Given the description of an element on the screen output the (x, y) to click on. 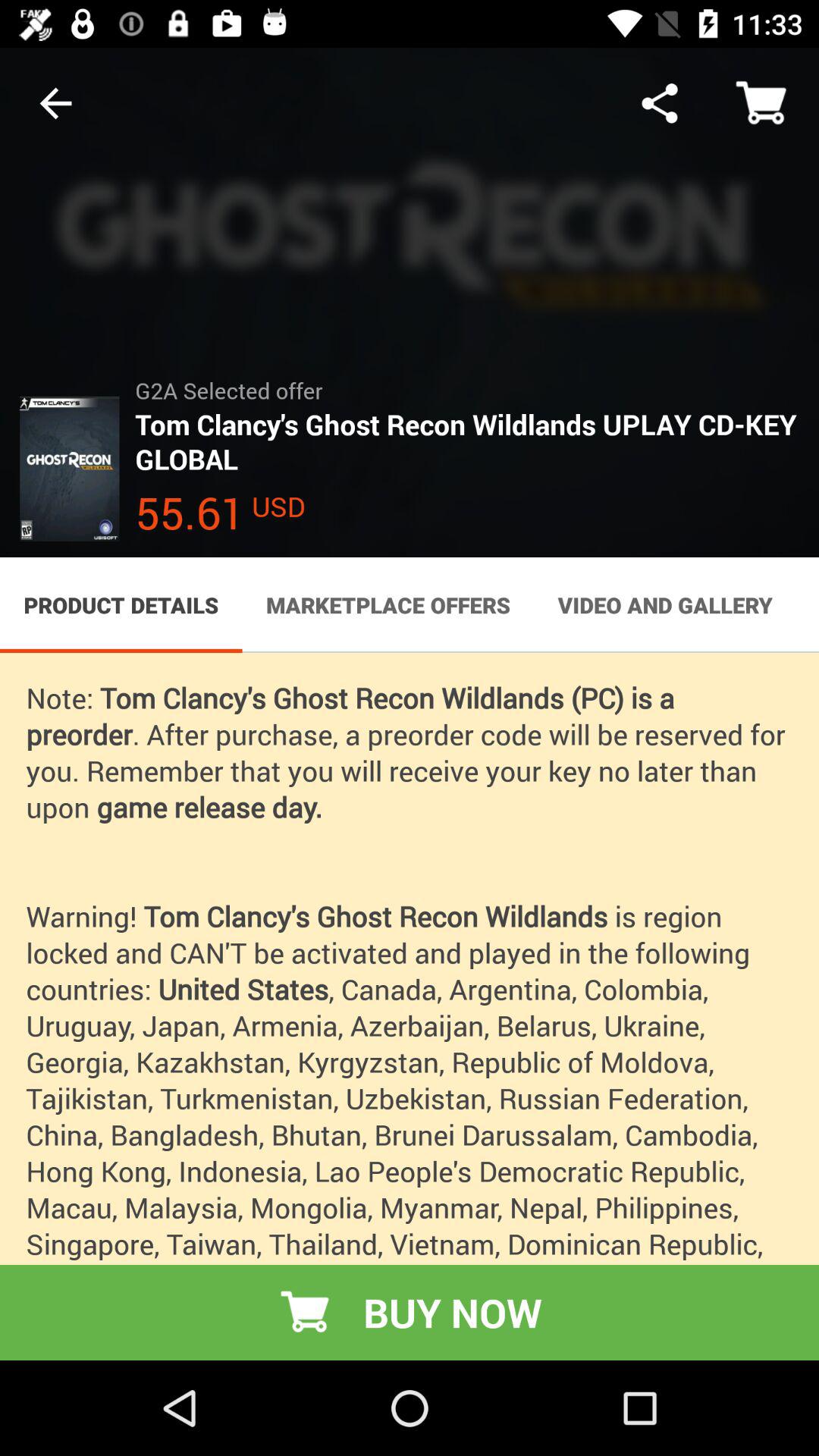
press the note tom clancy (409, 1006)
